Given the description of an element on the screen output the (x, y) to click on. 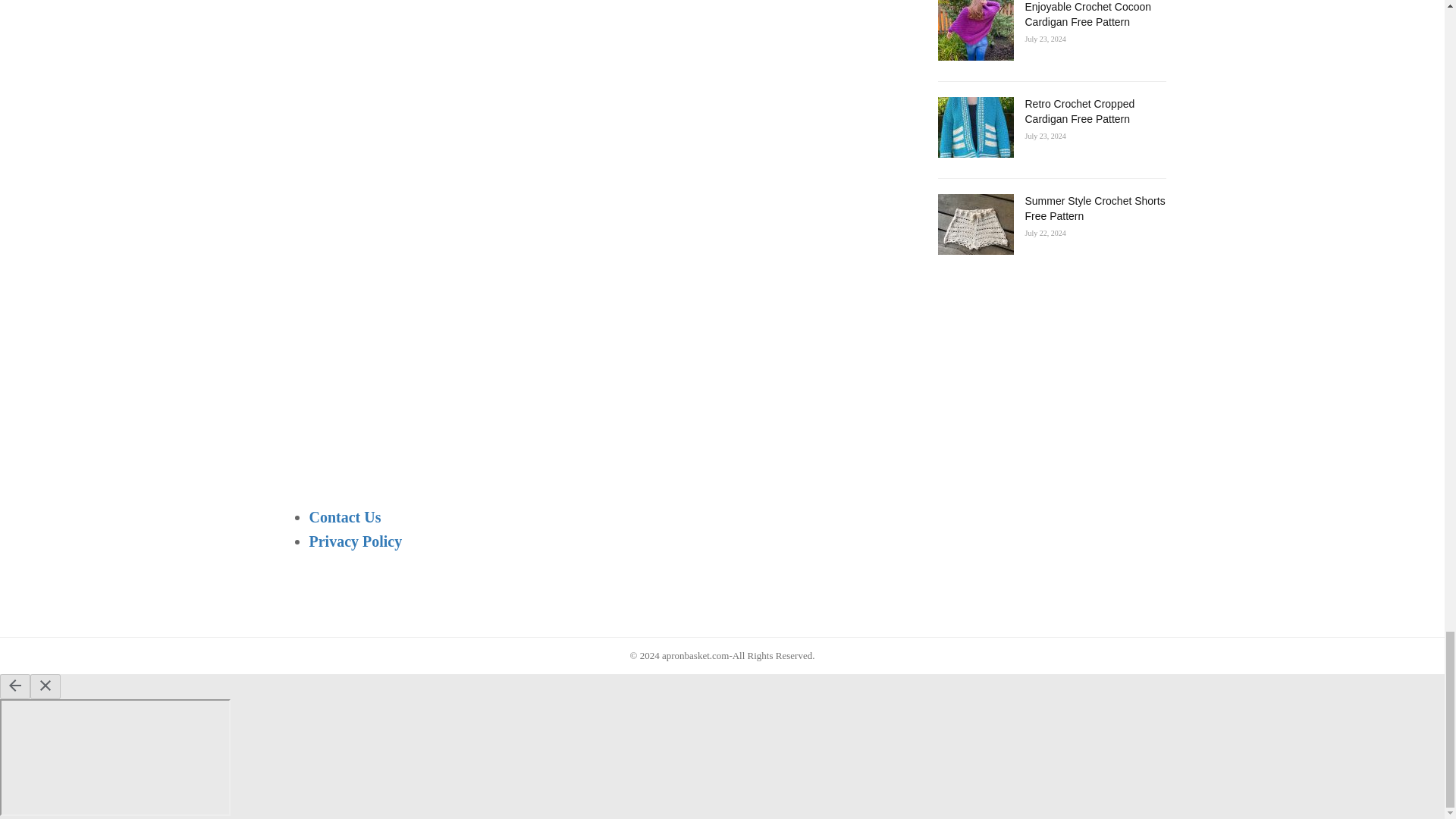
Enjoyable Crochet Cocoon Cardigan Free Pattern (975, 30)
Retro Crochet Cropped Cardigan Free Pattern (1080, 111)
Enjoyable Crochet Cocoon Cardigan Free Pattern (1088, 13)
Summer Style Crochet Shorts Free Pattern (975, 224)
Retro Crochet Cropped Cardigan Free Pattern (975, 127)
